Given the description of an element on the screen output the (x, y) to click on. 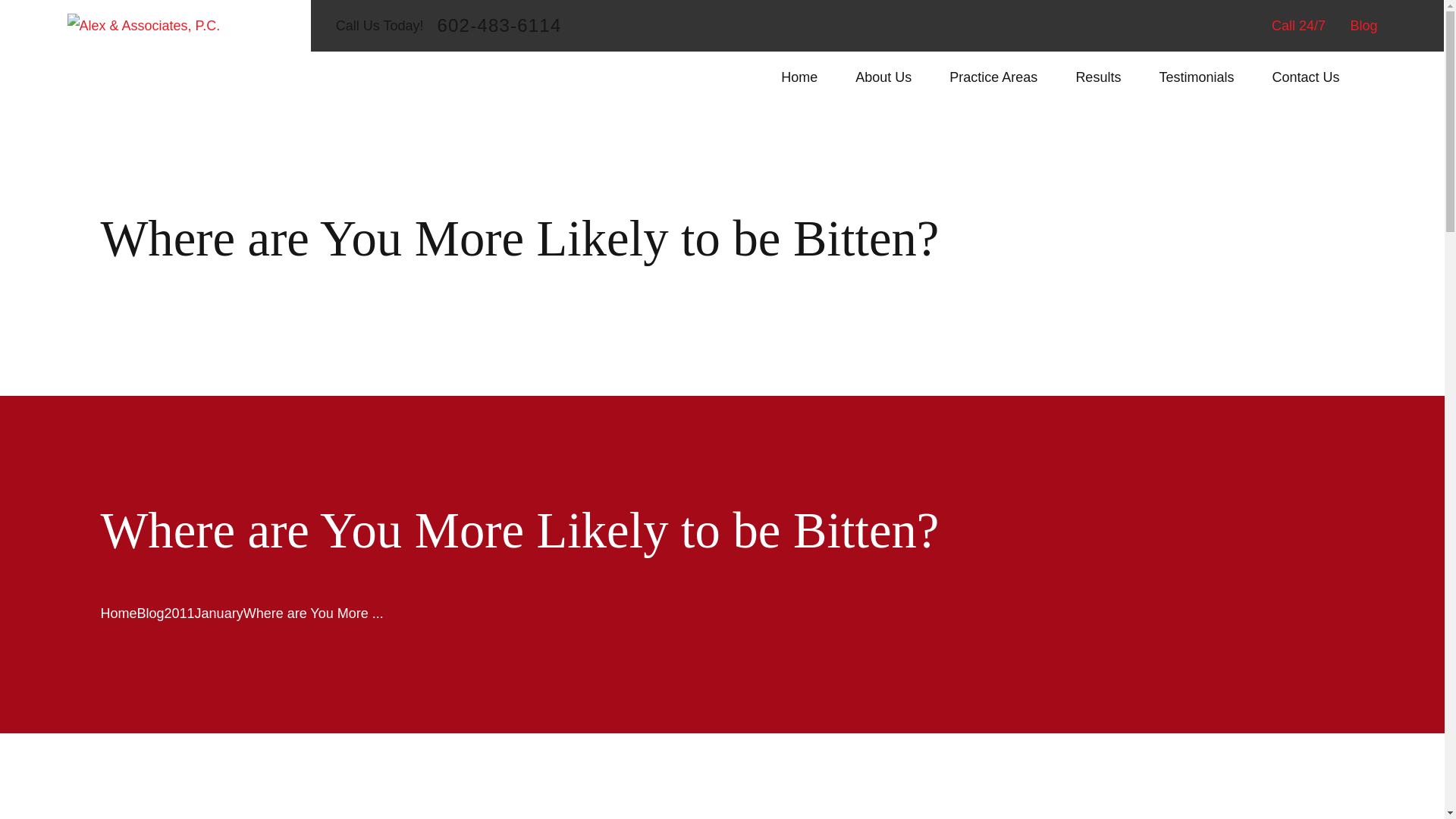
Results (1098, 77)
Home (798, 77)
602-483-6114 (498, 25)
Contact Us (1305, 77)
Blog (1363, 25)
Home (142, 25)
About Us (883, 77)
Go Home (118, 613)
Testimonials (1195, 77)
Practice Areas (992, 77)
